Given the description of an element on the screen output the (x, y) to click on. 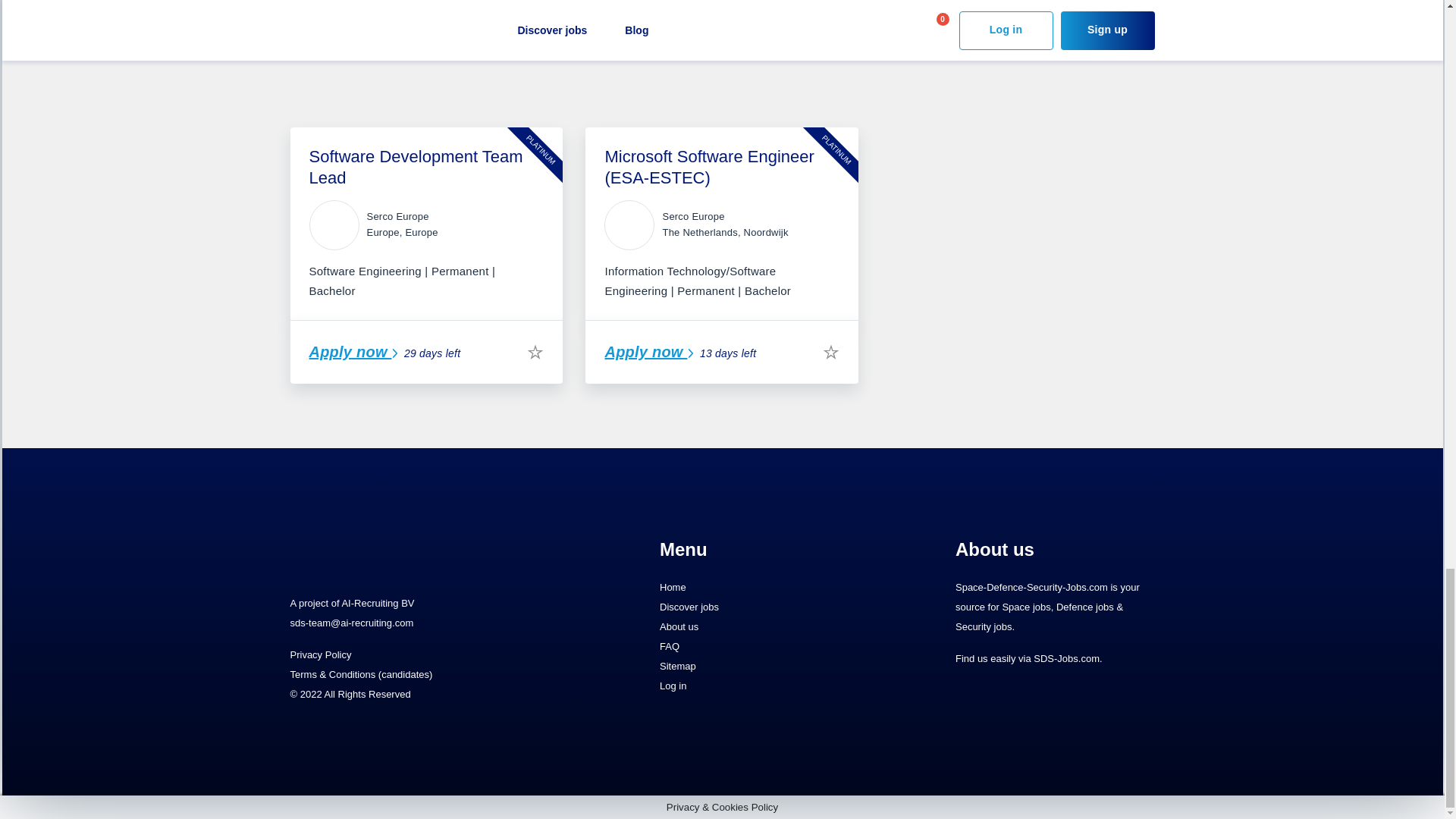
Security jobs (983, 625)
Home (759, 587)
Defence jobs (1085, 605)
Sitemap (759, 666)
Log in (759, 686)
About us (759, 627)
Space jobs (1025, 605)
SDS-Jobs.com (1066, 657)
Privacy Policy (319, 654)
Space Defence Security Jobs Footer Logo (380, 552)
